Given the description of an element on the screen output the (x, y) to click on. 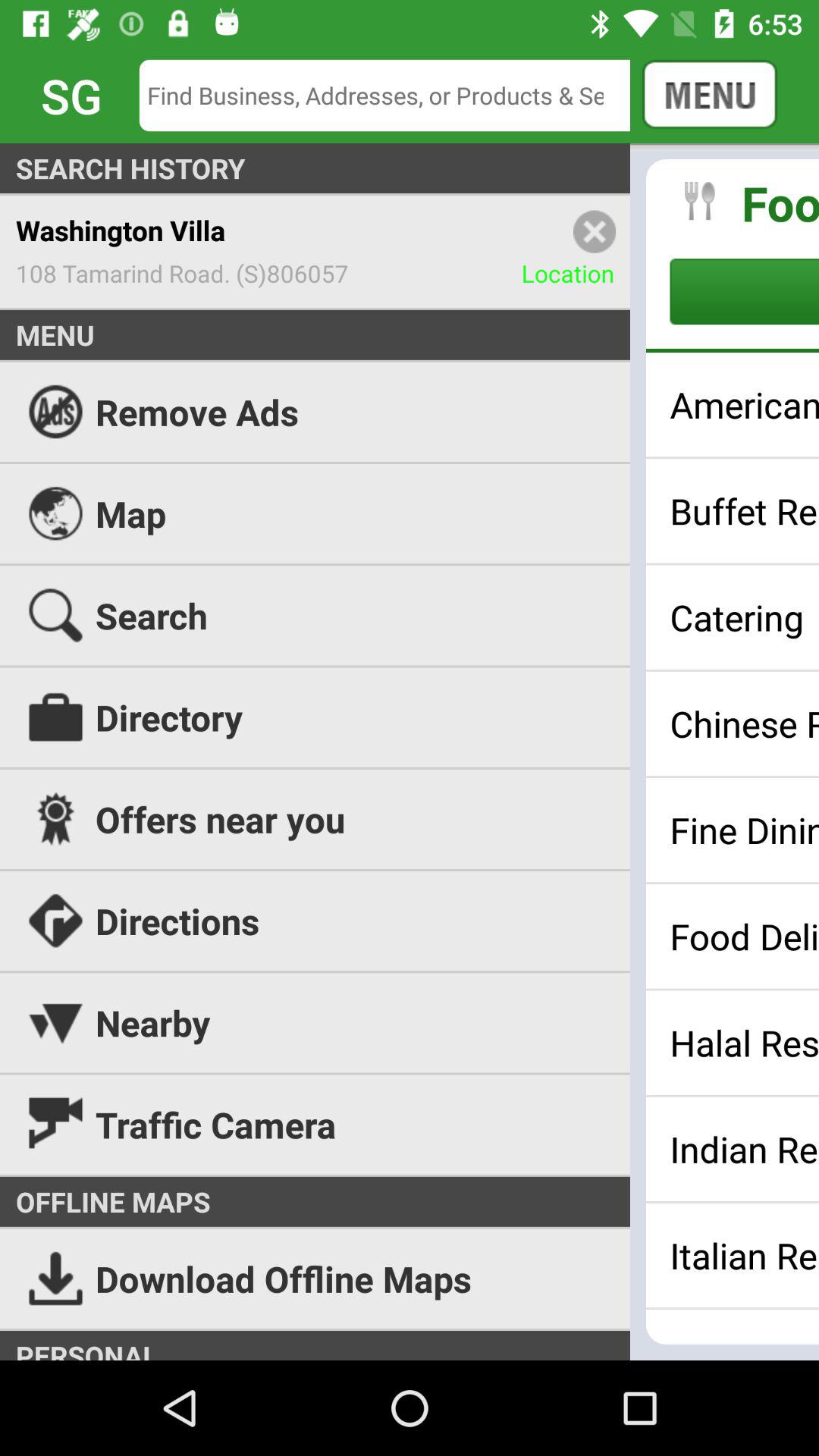
turn on the item to the right of sg (395, 95)
